Given the description of an element on the screen output the (x, y) to click on. 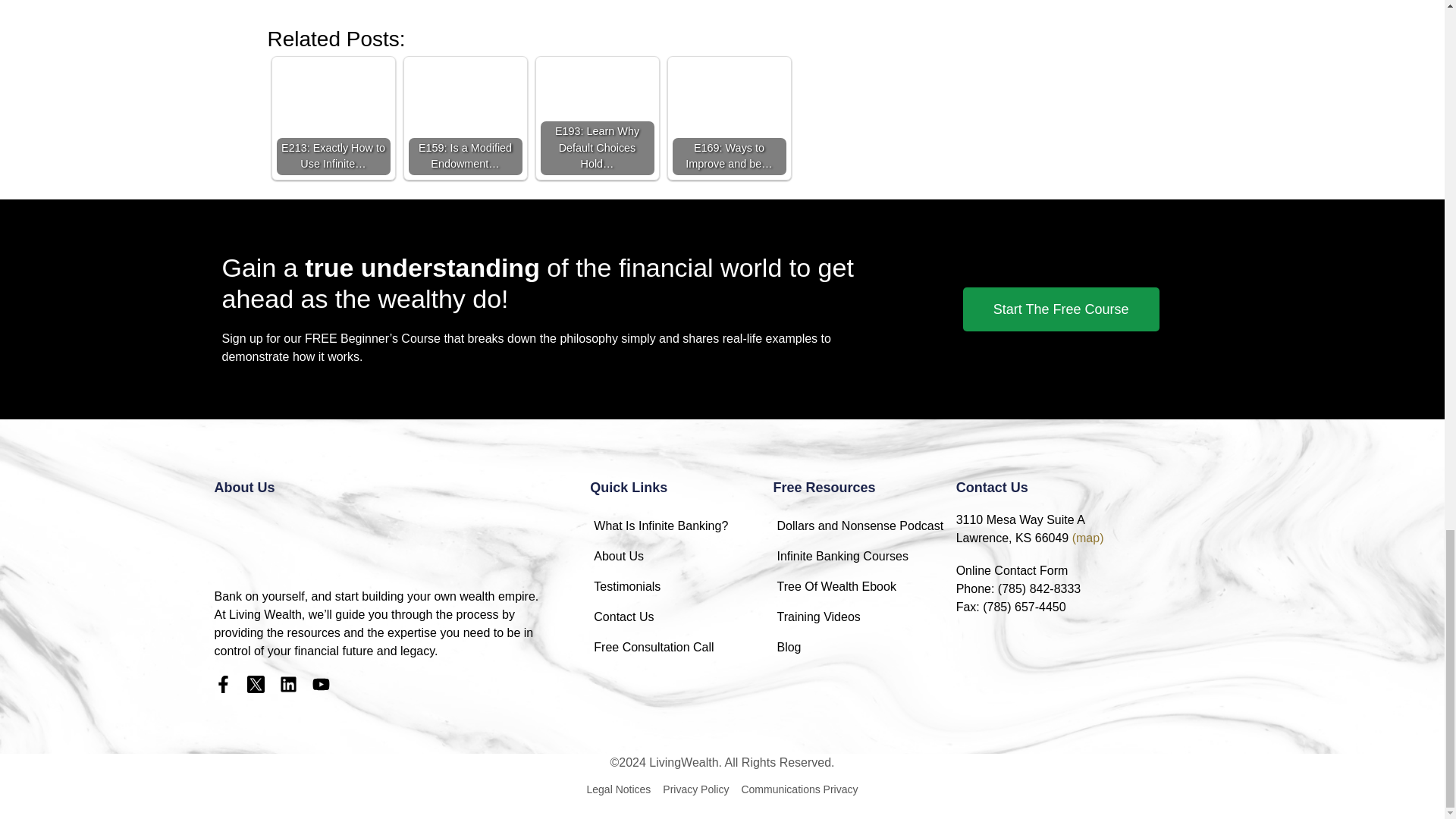
Free Consultation Call (681, 647)
Contact Us (681, 616)
Start The Free Course (1060, 309)
What Is Infinite Banking? (681, 526)
About Us (681, 556)
Testimonials (681, 586)
